Given the description of an element on the screen output the (x, y) to click on. 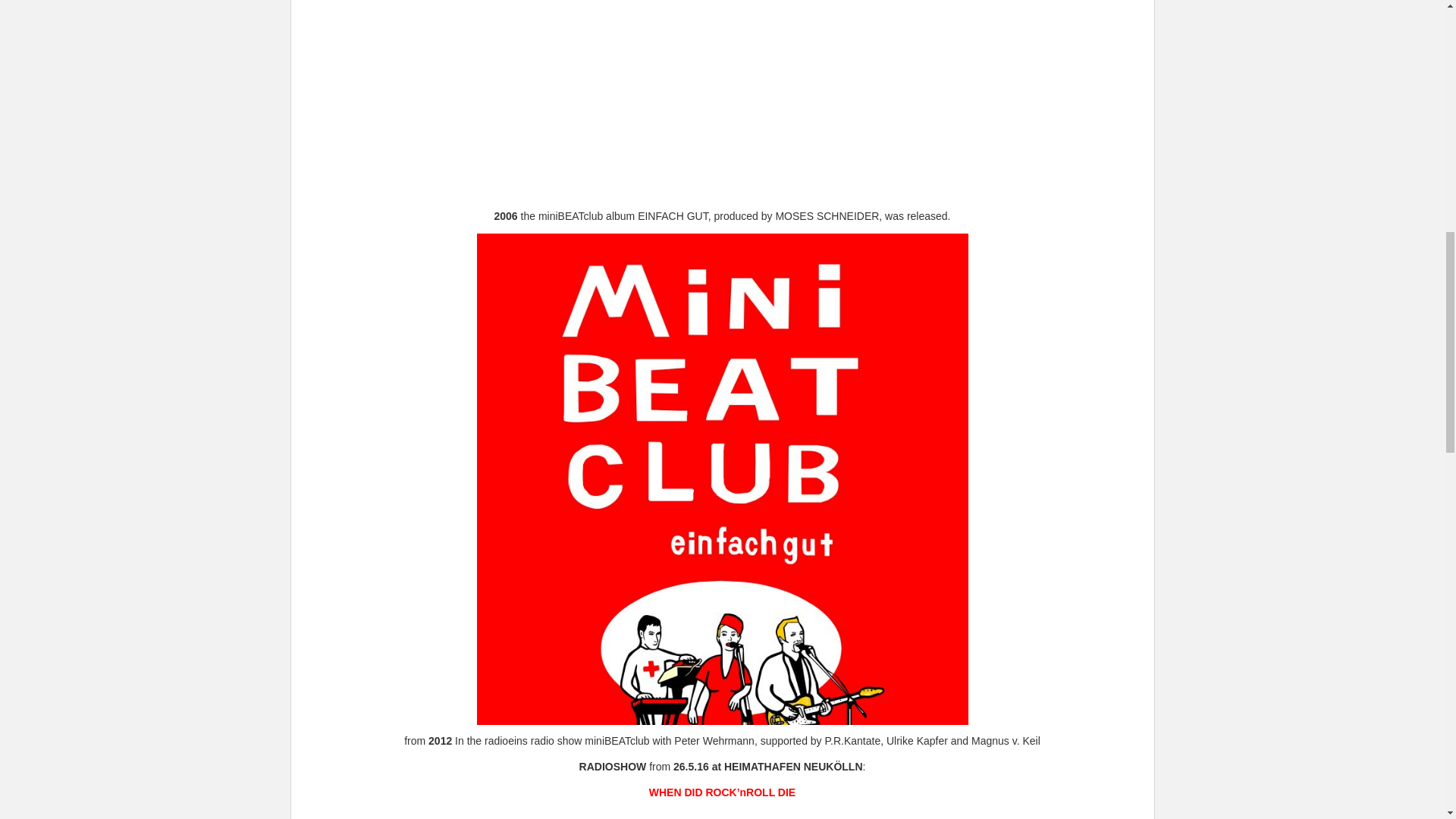
YouTube video player (721, 97)
